Given the description of an element on the screen output the (x, y) to click on. 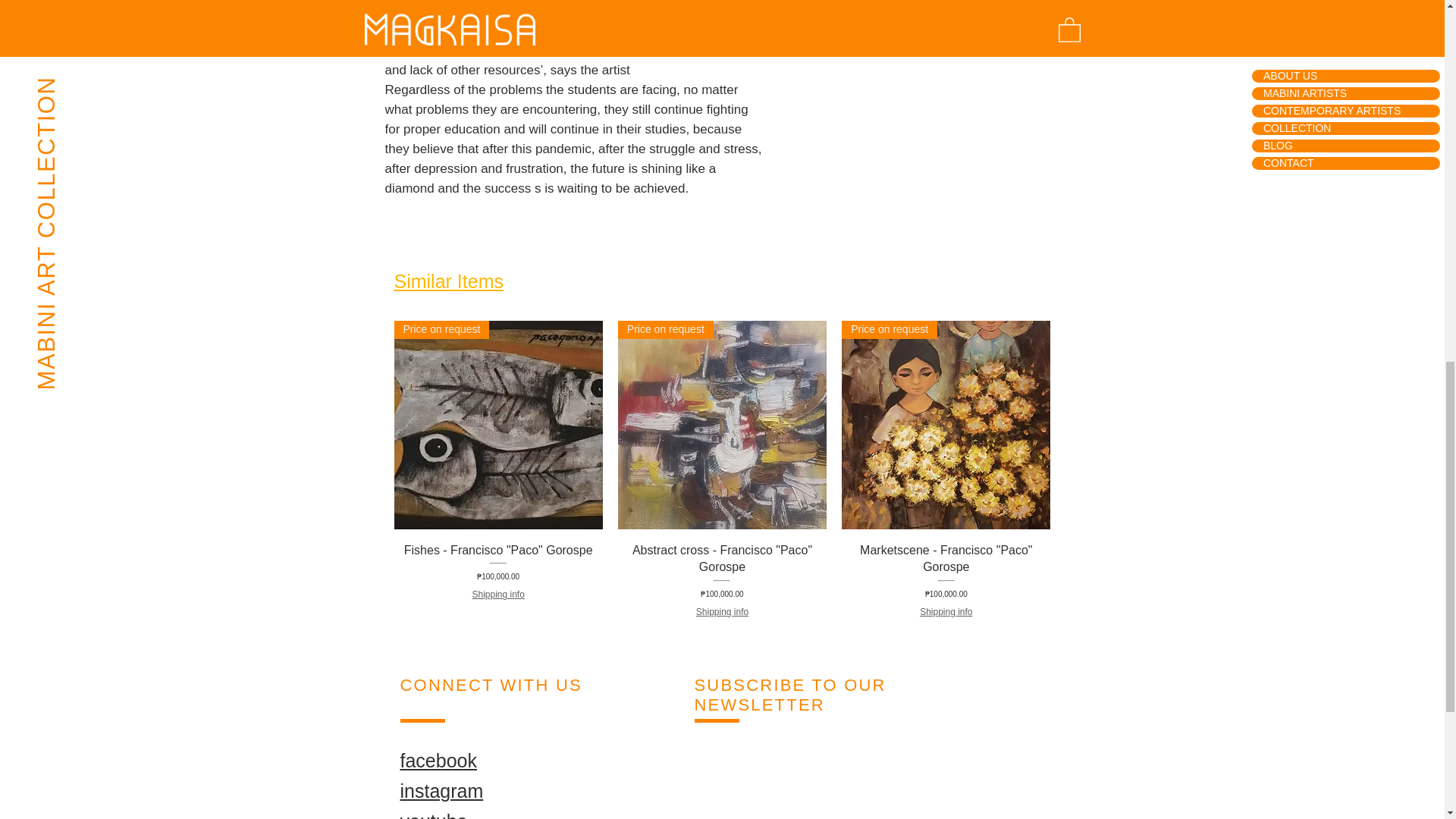
Price on request (945, 425)
Price on request (722, 425)
Price on request (498, 425)
Shipping info (721, 612)
Shipping info (497, 594)
Shipping info (946, 612)
